Given the description of an element on the screen output the (x, y) to click on. 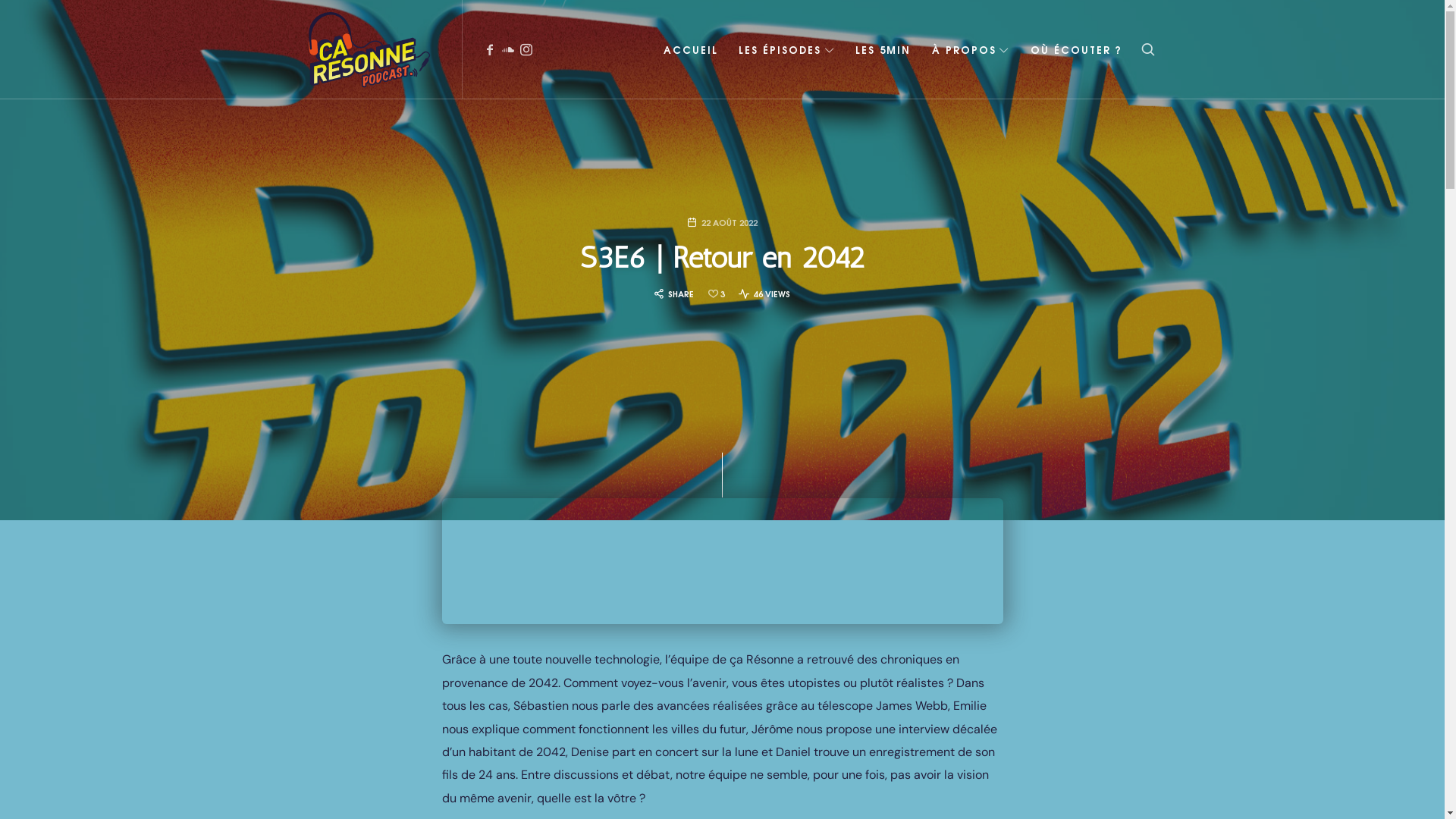
LES 5MIN Element type: text (882, 49)
ACCUEIL Element type: text (690, 49)
3 Element type: text (716, 293)
